Given the description of an element on the screen output the (x, y) to click on. 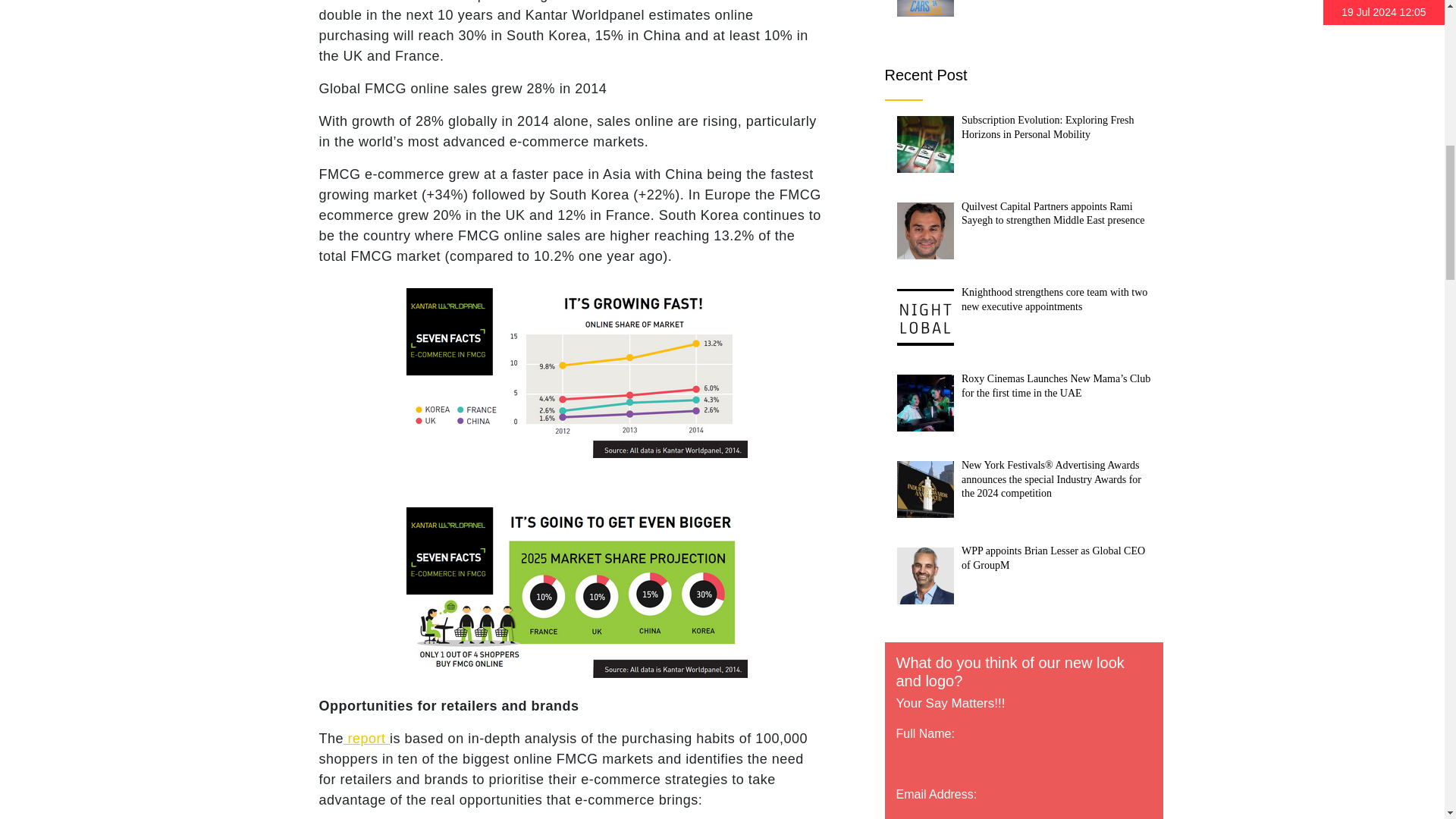
CARS24 Expands its UAE Operations (924, 7)
